Given the description of an element on the screen output the (x, y) to click on. 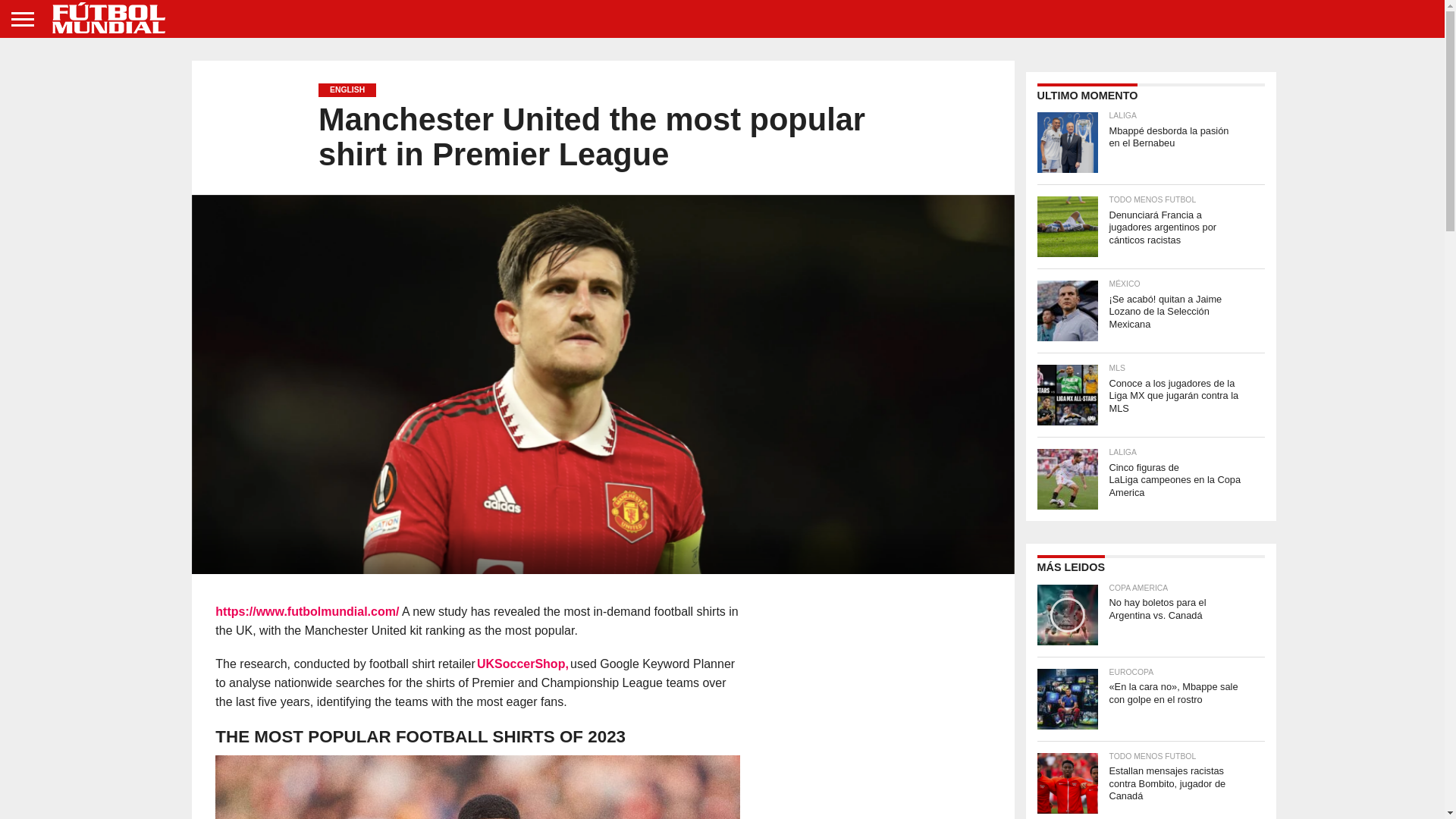
UKSoccerShop, (523, 663)
